Given the description of an element on the screen output the (x, y) to click on. 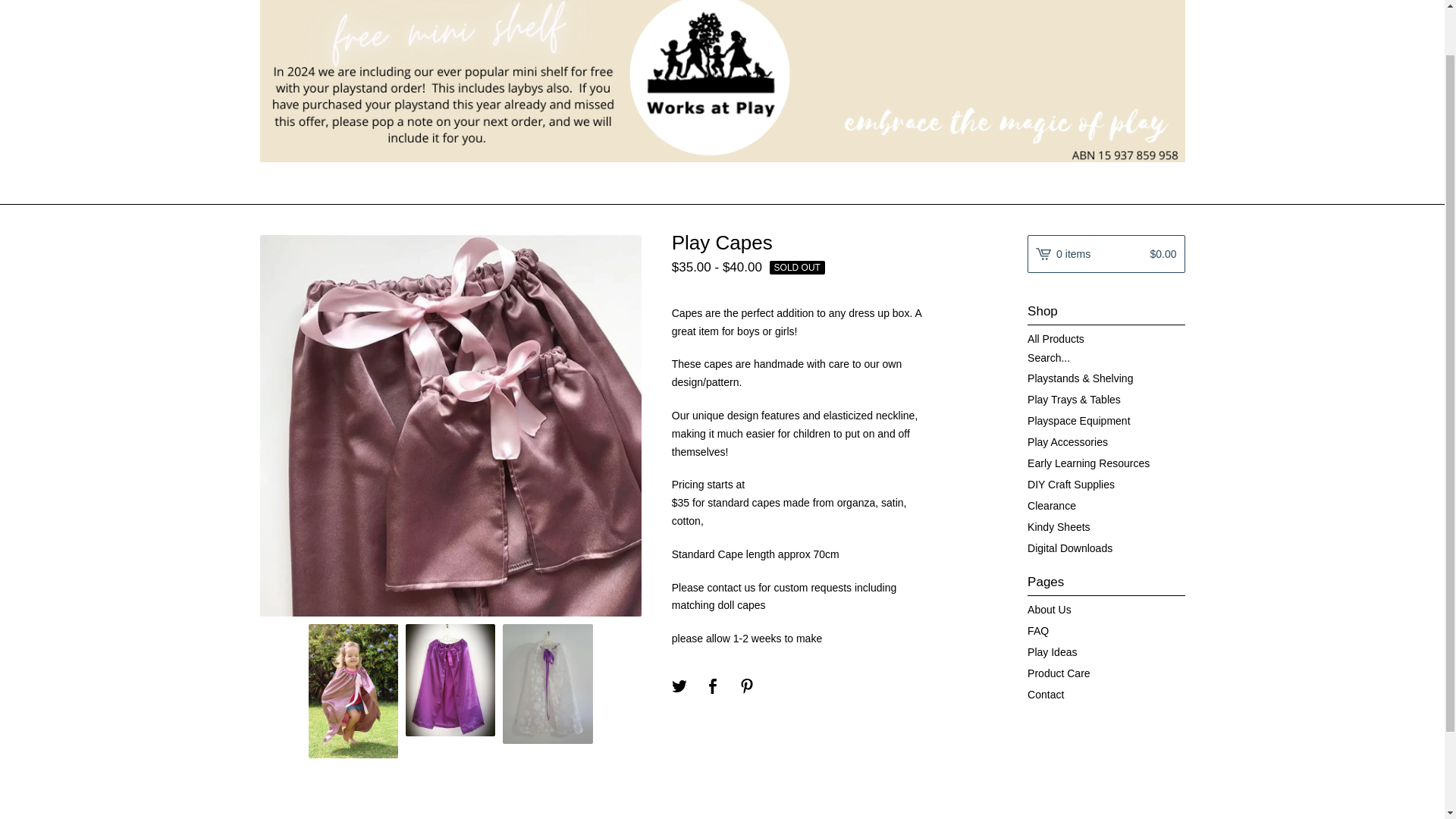
Product Care (1106, 672)
View Play Ideas (1106, 651)
Play Ideas (1106, 651)
Play Accessories (1106, 441)
Digital Downloads (1106, 547)
FAQ (1106, 630)
View Play Accessories (1106, 441)
Kindy Sheets (1106, 526)
View About Us (1106, 608)
